Given the description of an element on the screen output the (x, y) to click on. 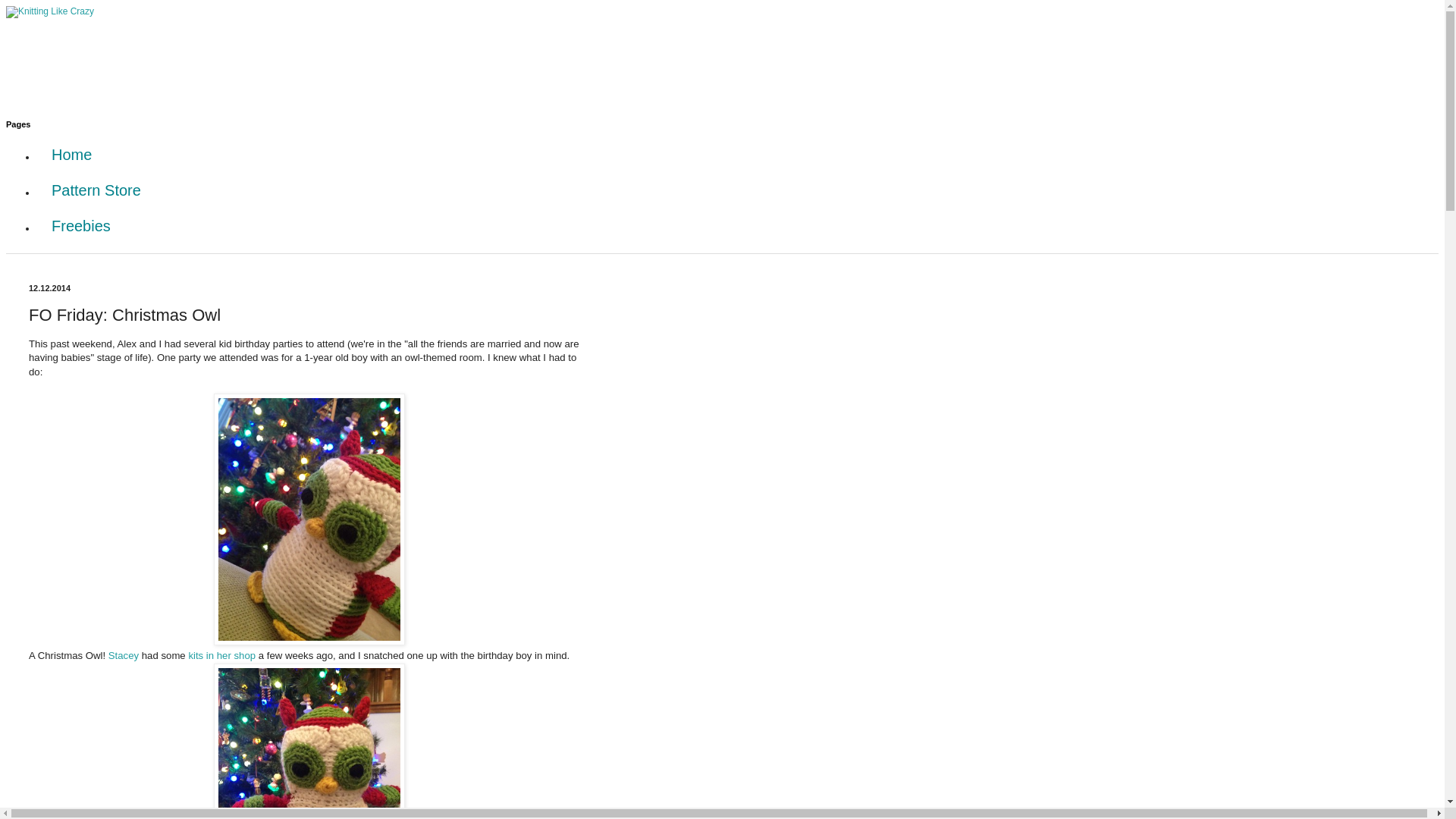
Pattern Store (95, 190)
Home (71, 154)
Freebies (80, 226)
kits in her shop (221, 655)
Stacey (122, 655)
